Given the description of an element on the screen output the (x, y) to click on. 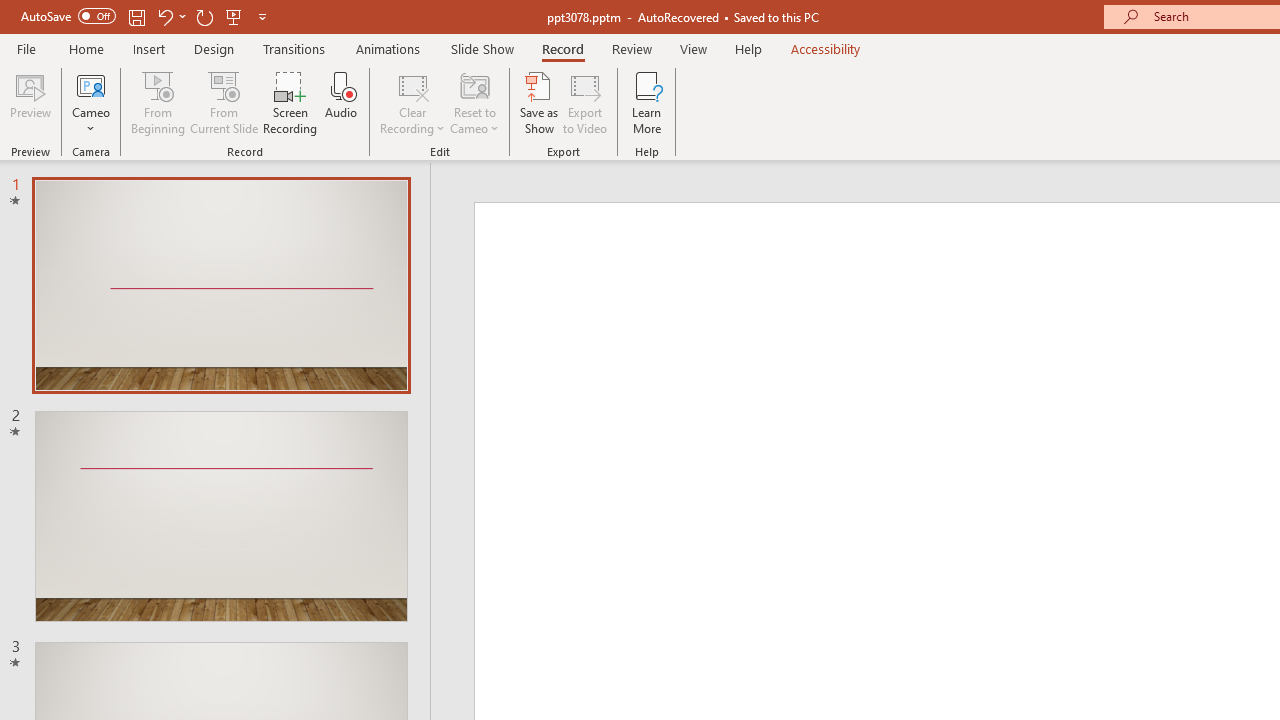
Export to Video (585, 102)
Learn More (646, 102)
Screen Recording (290, 102)
Clear Recording (412, 102)
From Current Slide... (224, 102)
